Given the description of an element on the screen output the (x, y) to click on. 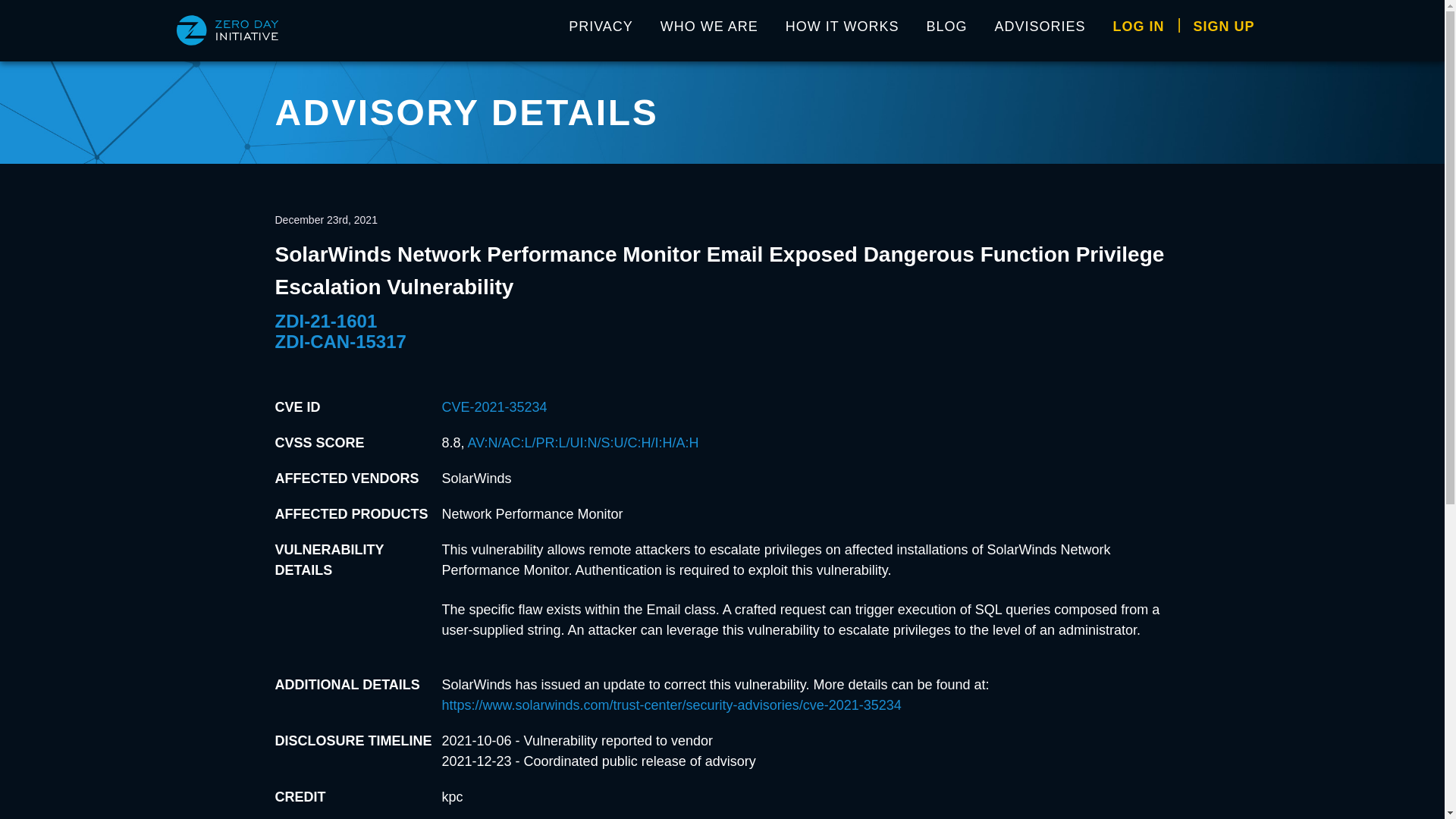
HOW IT WORKS (841, 30)
WHO WE ARE (708, 30)
ADVISORIES (1040, 30)
SIGN UP (1224, 30)
PRIVACY (600, 30)
BLOG (946, 30)
CVE-2021-35234 (494, 406)
LOG IN (1138, 30)
